Given the description of an element on the screen output the (x, y) to click on. 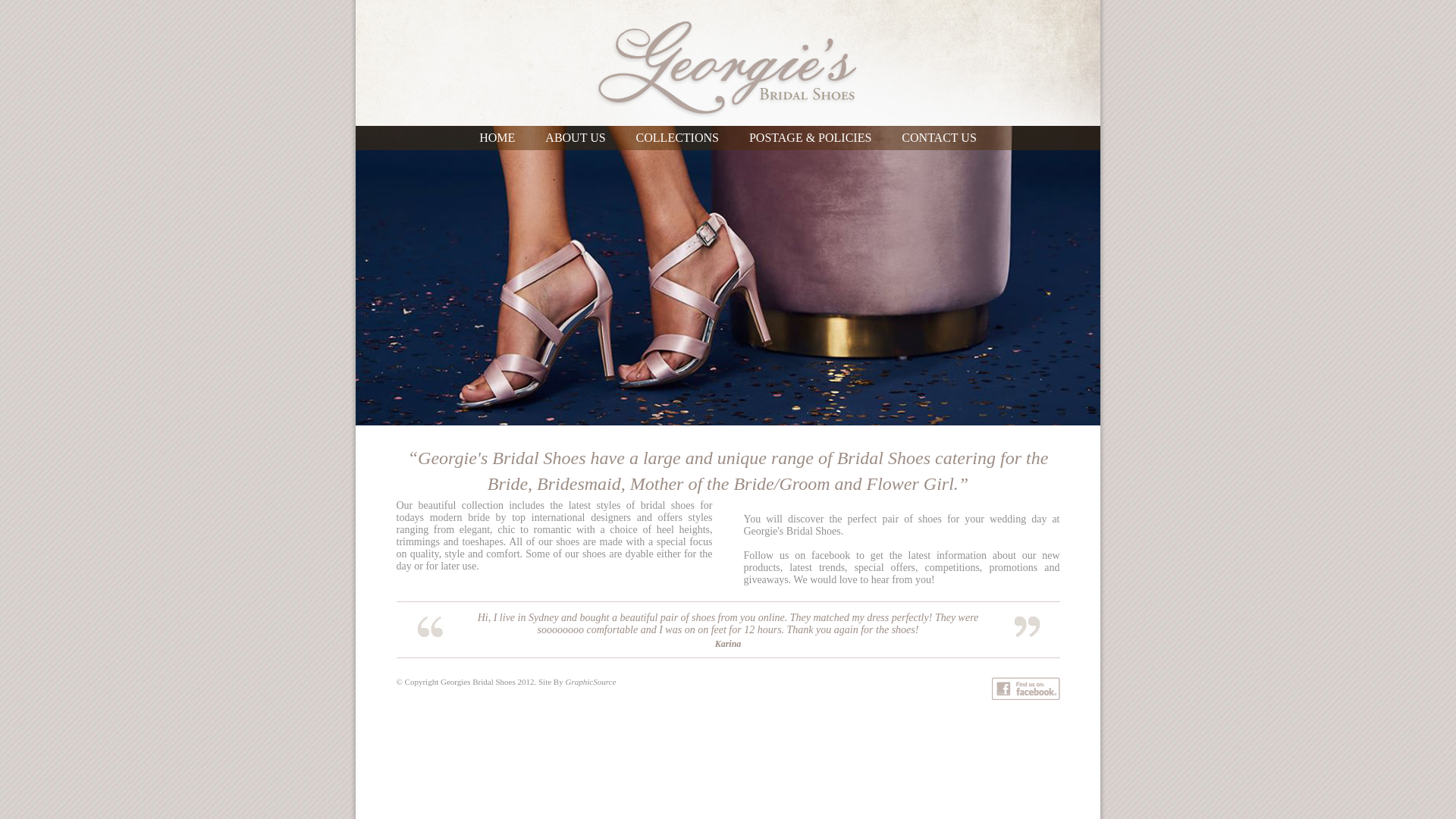
POSTAGE & POLICIES Element type: text (810, 137)
CONTACT US Element type: text (938, 137)
COLLECTIONS Element type: text (677, 137)
GraphicSource Element type: text (589, 681)
HOME Element type: text (496, 137)
ABOUT US Element type: text (575, 137)
